Given the description of an element on the screen output the (x, y) to click on. 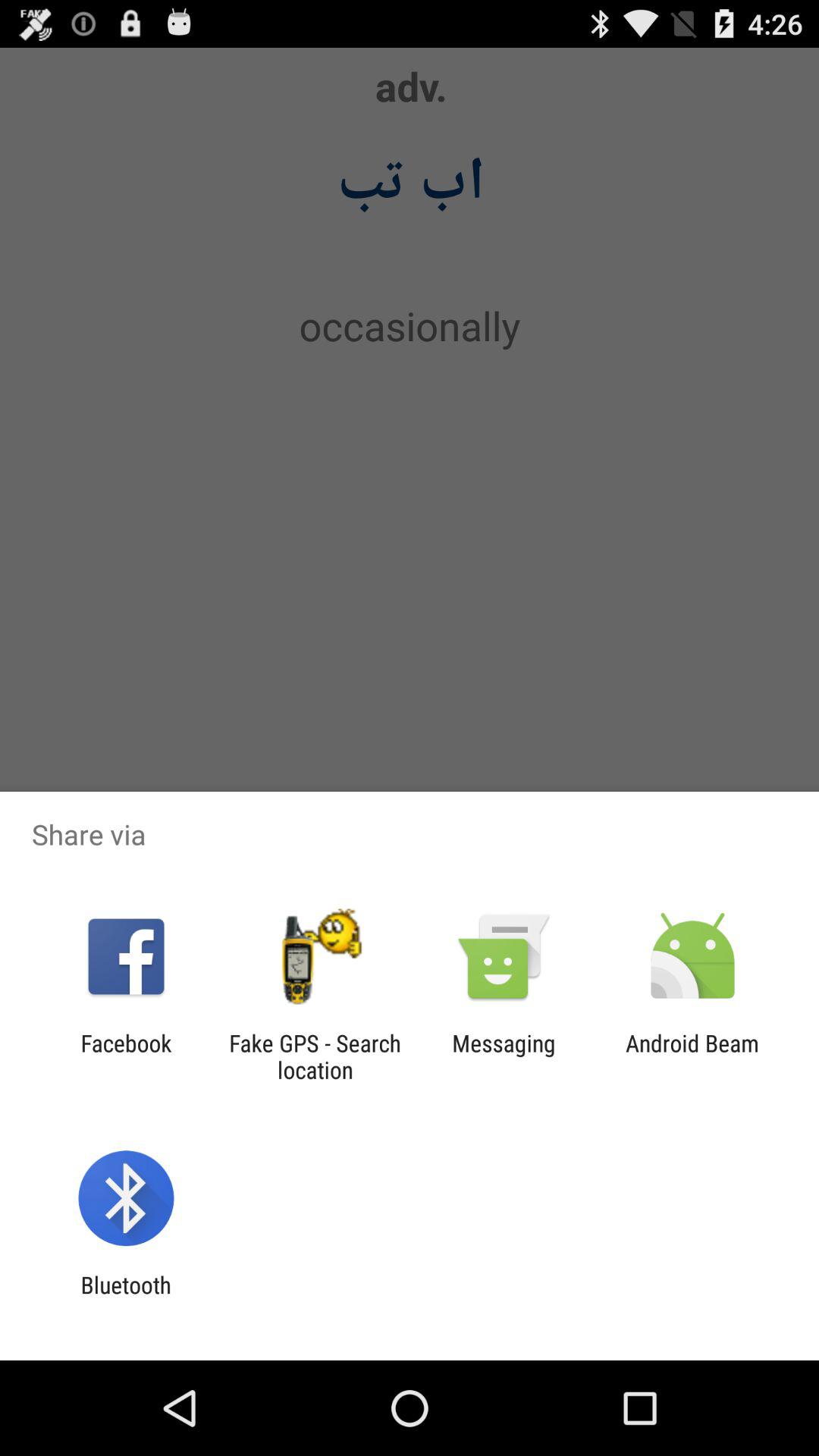
select item next to the facebook item (314, 1056)
